Given the description of an element on the screen output the (x, y) to click on. 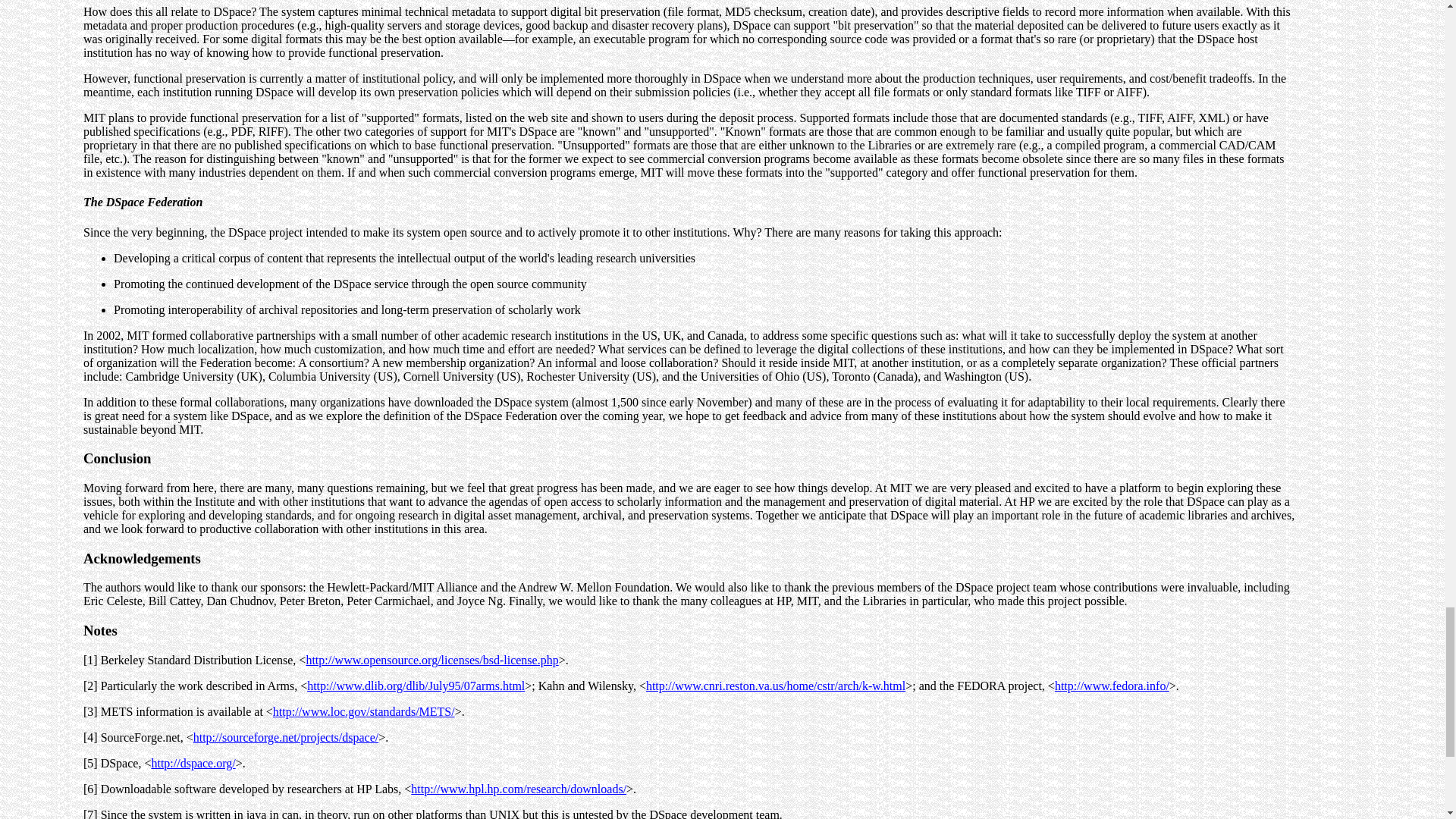
N (88, 630)
